Given the description of an element on the screen output the (x, y) to click on. 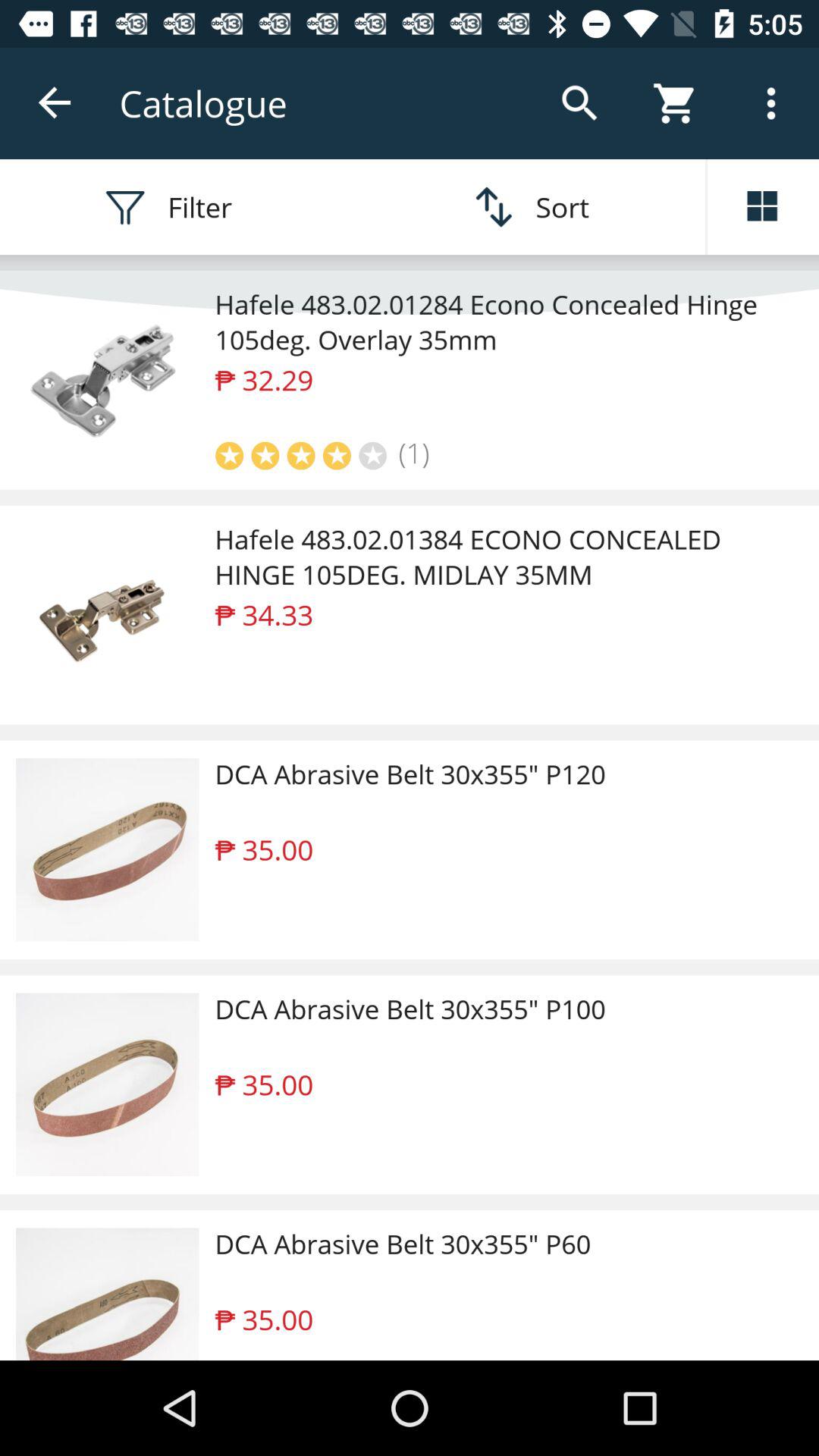
back (55, 103)
